Given the description of an element on the screen output the (x, y) to click on. 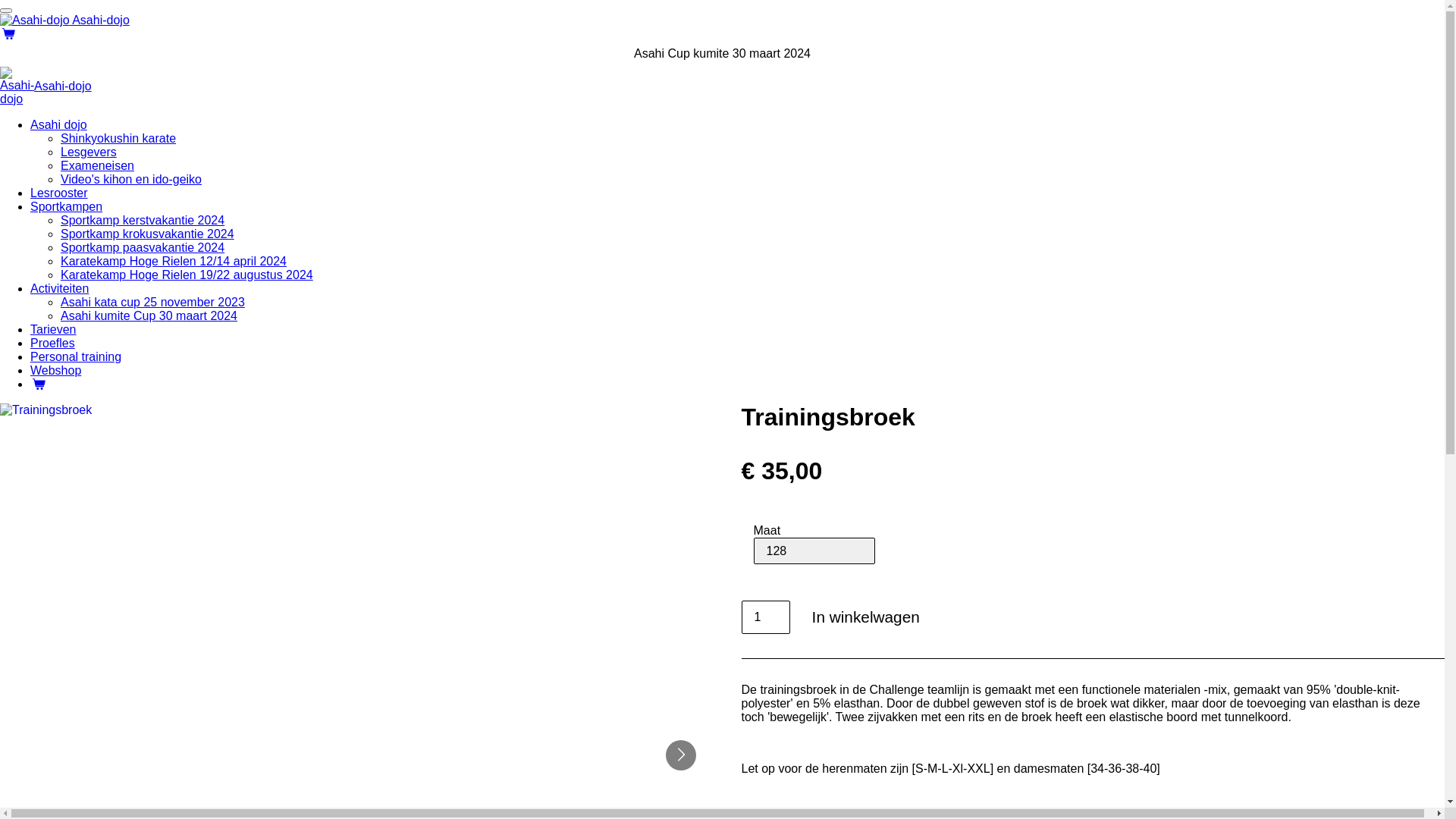
Video's kihon en ido-geiko Element type: text (130, 178)
Exameneisen Element type: text (97, 165)
Sportkamp krokusvakantie 2024 Element type: text (147, 233)
Winkelwagen Element type: hover (38, 383)
Karatekamp Hoge Rielen 12/14 april 2024 Element type: text (173, 260)
Sportkamp paasvakantie 2024 Element type: text (142, 247)
Lesgevers Element type: text (88, 151)
Asahi-dojo Element type: text (62, 85)
Tarieven Element type: text (52, 329)
Asahi dojo Element type: text (58, 124)
Proefles Element type: text (52, 342)
Sportkamp kerstvakantie 2024 Element type: text (142, 219)
Asahi-dojo Element type: text (64, 19)
Activiteiten Element type: text (59, 288)
Asahi kata cup 25 november 2023 Element type: text (152, 301)
Shinkyokushin karate Element type: text (117, 137)
Asahi kumite Cup 30 maart 2024 Element type: text (148, 315)
Karatekamp Hoge Rielen 19/22 augustus 2024 Element type: text (186, 274)
Lesrooster Element type: text (58, 192)
In winkelwagen Element type: text (865, 617)
Asahi-dojo Element type: hover (34, 20)
Personal training Element type: text (75, 356)
Asahi-dojo Element type: hover (17, 86)
Webshop Element type: text (55, 370)
Sportkampen Element type: text (66, 206)
